Given the description of an element on the screen output the (x, y) to click on. 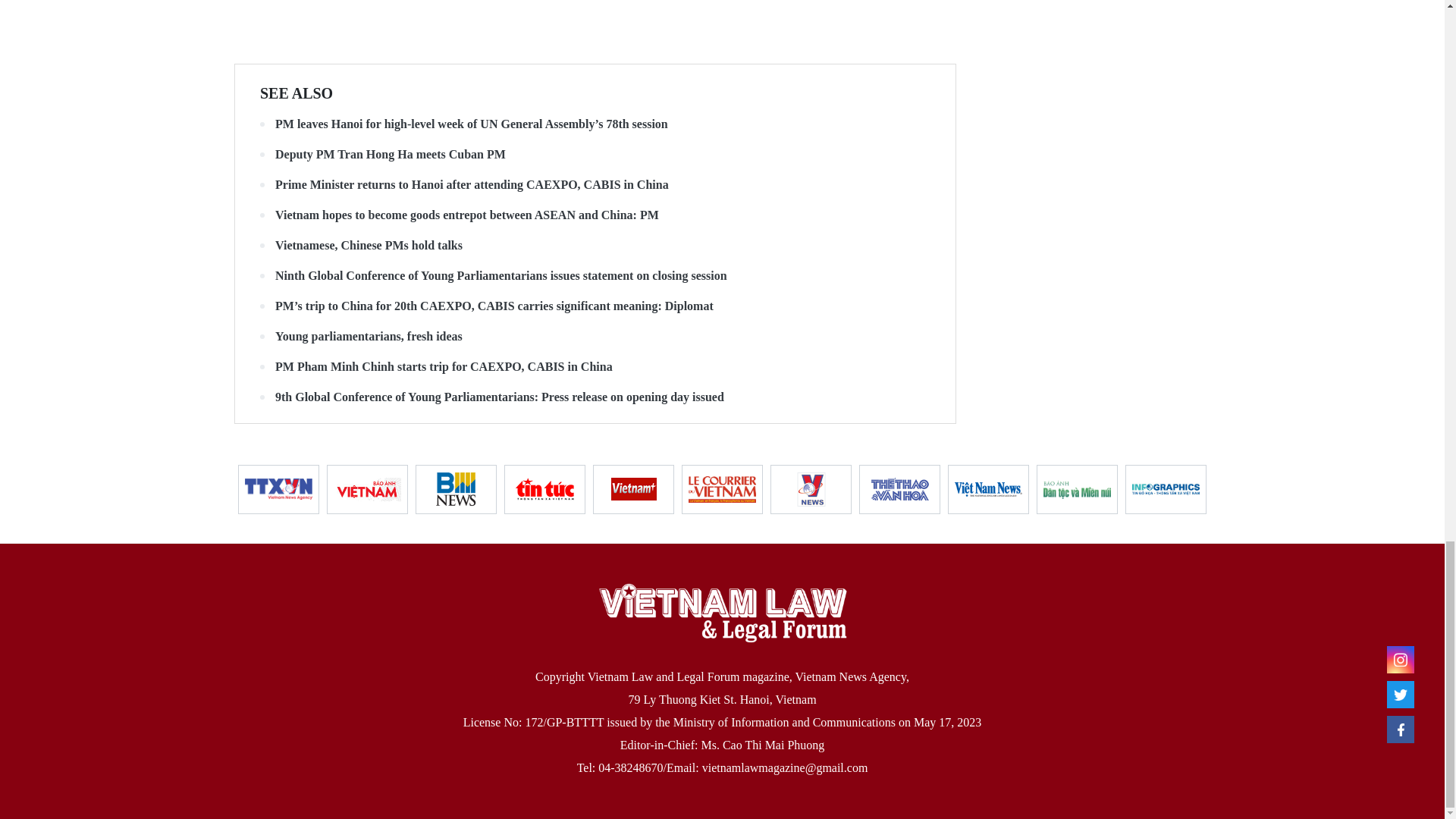
PM Pham Minh Chinh starts trip for CAEXPO, CABIS in China (595, 366)
Vietnamese, Chinese PMs hold talks (595, 245)
Deputy PM Tran Hong Ha meets Cuban PM (595, 154)
Young parliamentarians, fresh ideas (595, 336)
SEE ALSO (296, 93)
